Given the description of an element on the screen output the (x, y) to click on. 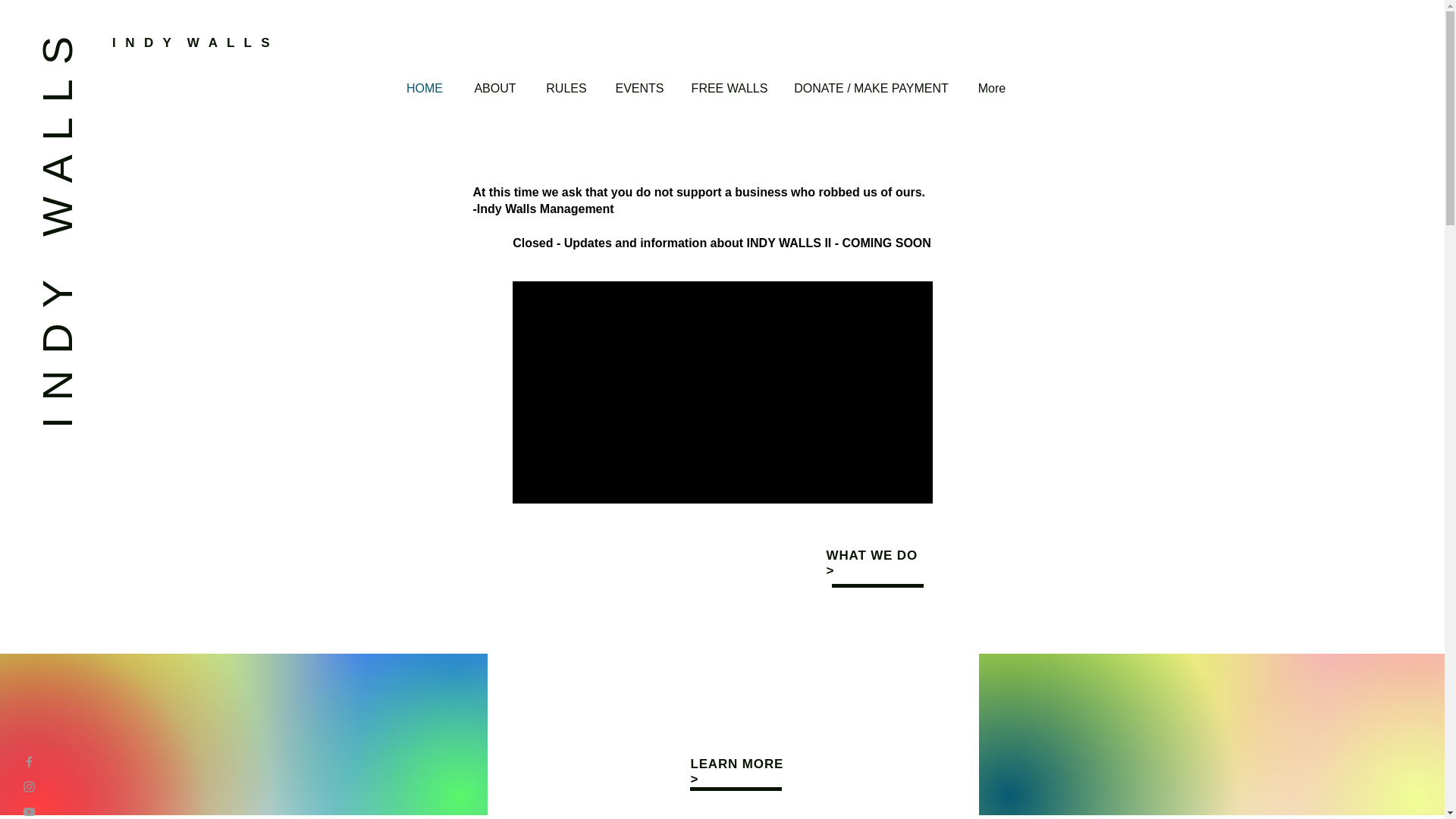
EVENTS (638, 88)
HOME (424, 88)
ABOUT (494, 88)
RULES (566, 88)
FREE WALLS (729, 88)
